Given the description of an element on the screen output the (x, y) to click on. 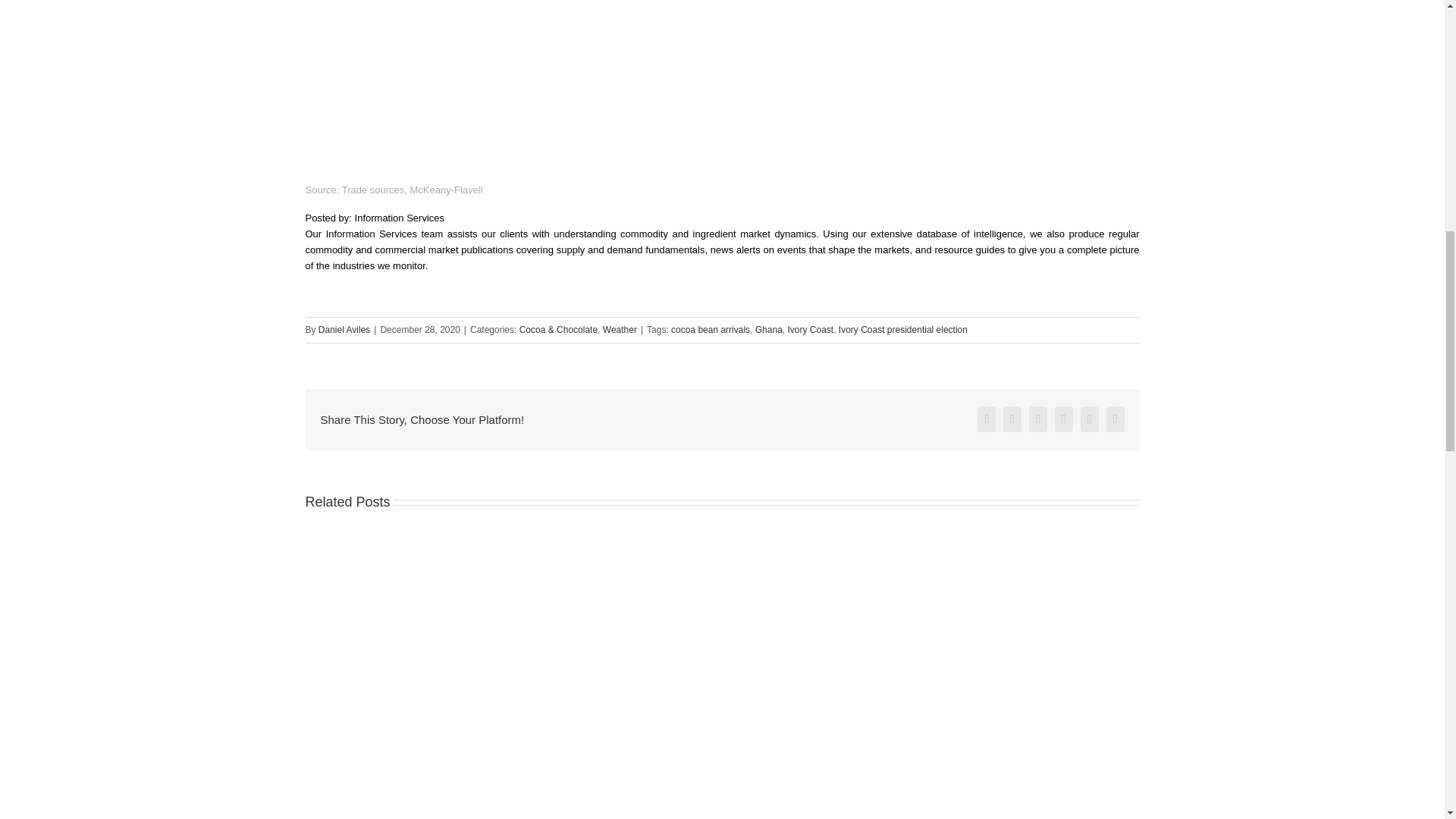
cocoa bean arrivals (710, 329)
Ivory Coast (809, 329)
Daniel Aviles (343, 329)
Posts by Daniel Aviles (343, 329)
Ghana (769, 329)
Weather (619, 329)
Ivory Coast presidential election (903, 329)
